Given the description of an element on the screen output the (x, y) to click on. 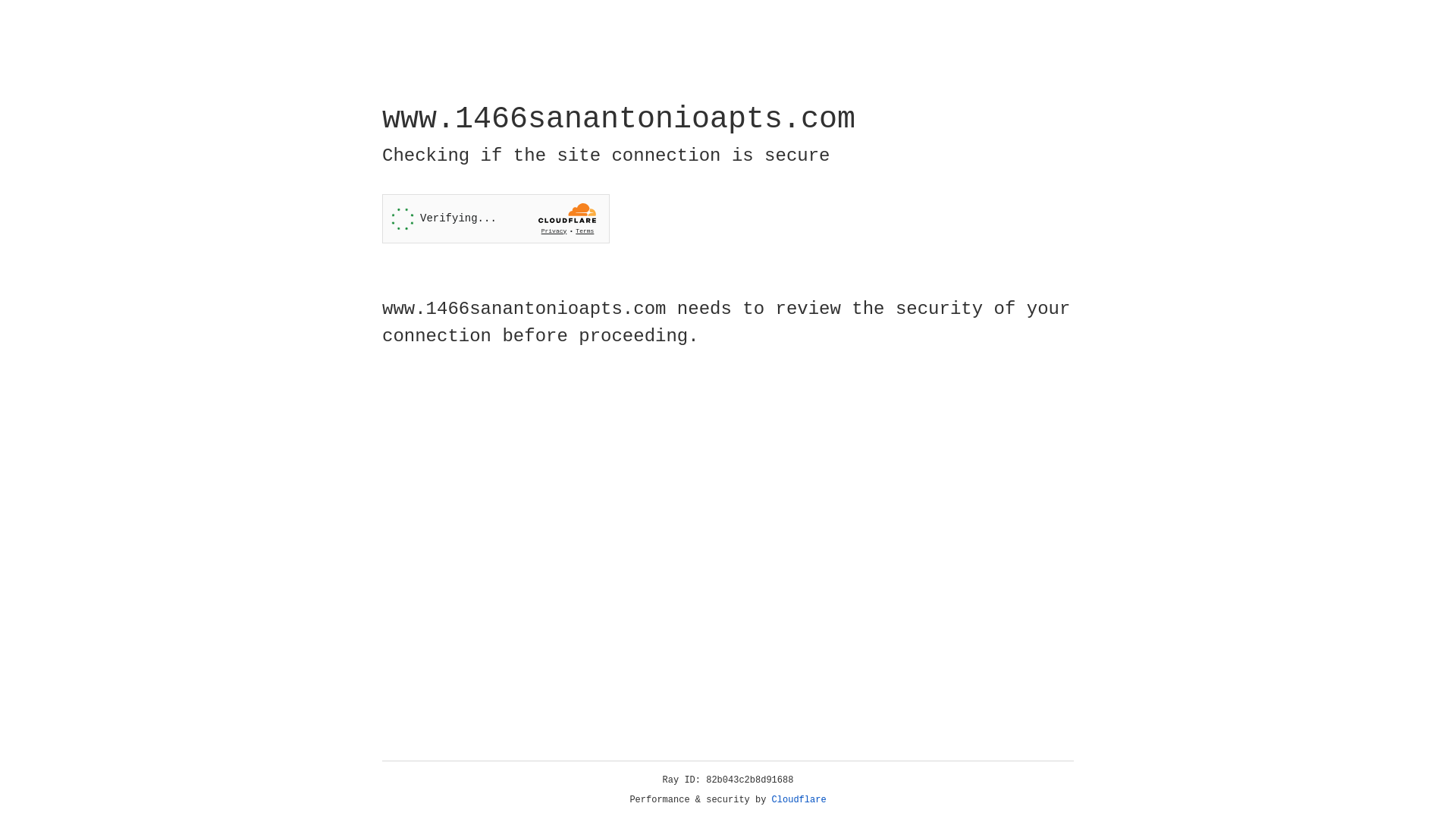
Widget containing a Cloudflare security challenge Element type: hover (495, 218)
Cloudflare Element type: text (798, 799)
